Given the description of an element on the screen output the (x, y) to click on. 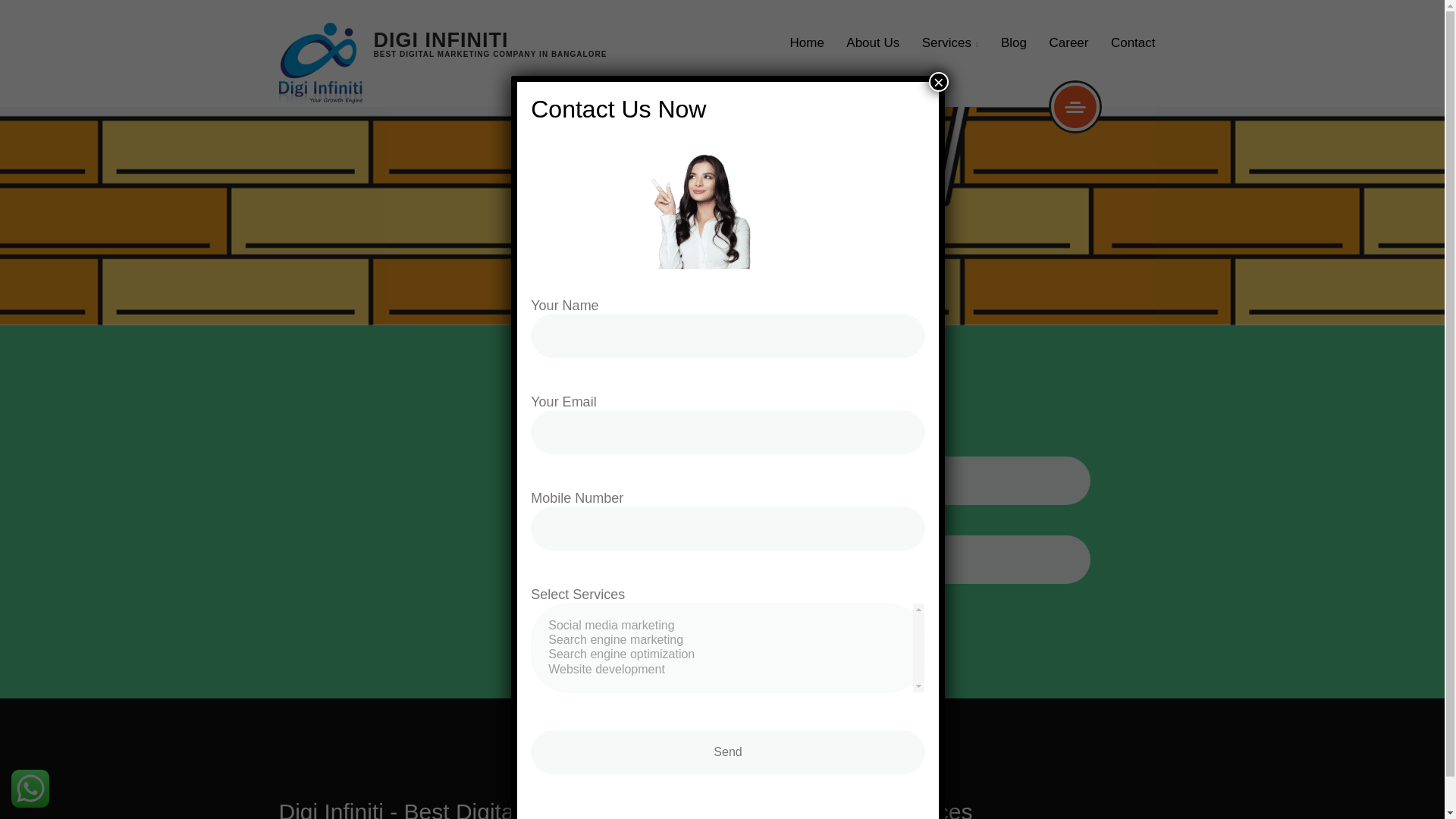
Subscribe (874, 559)
